Given the description of an element on the screen output the (x, y) to click on. 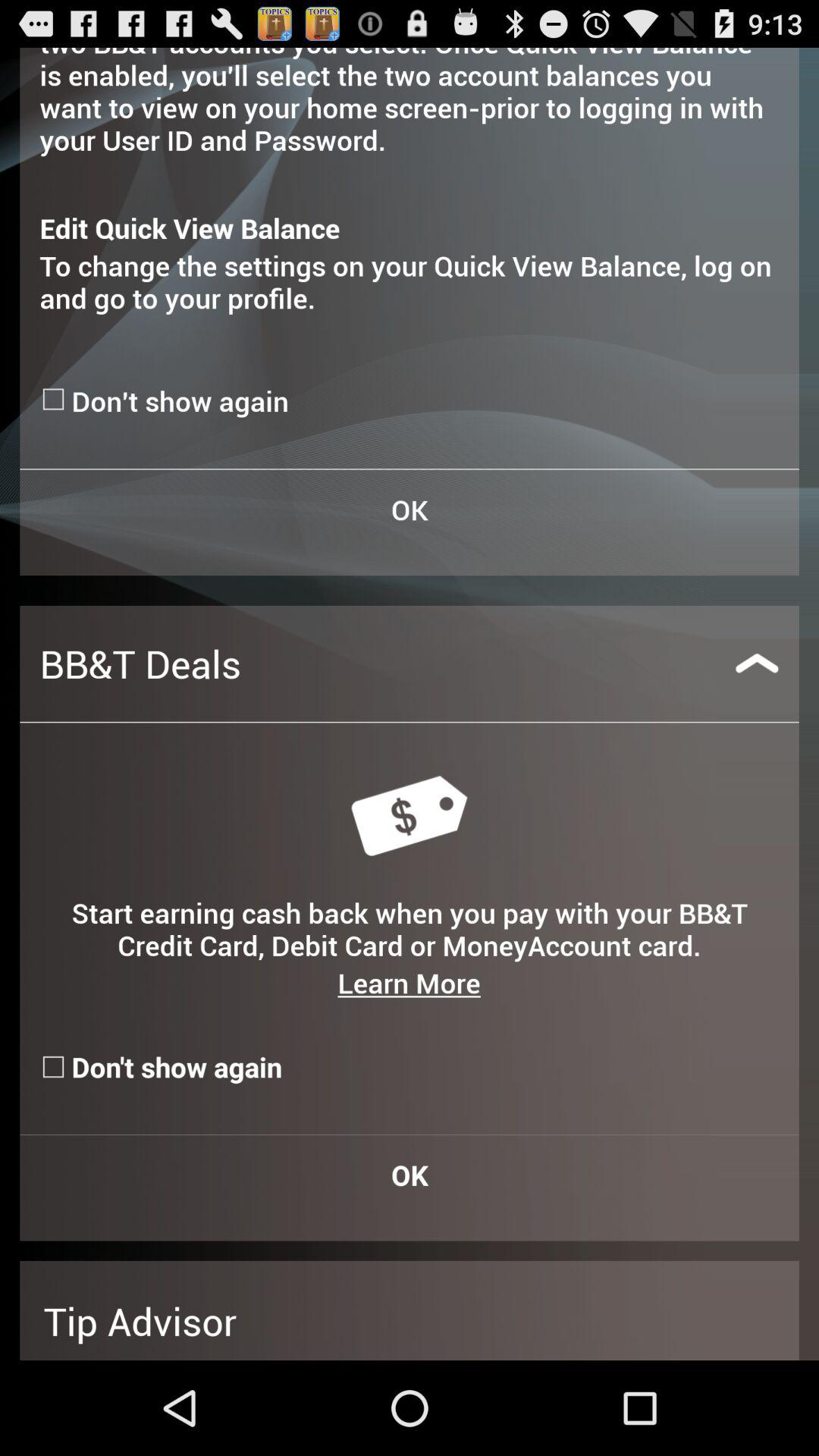
jump to learn more item (408, 982)
